Given the description of an element on the screen output the (x, y) to click on. 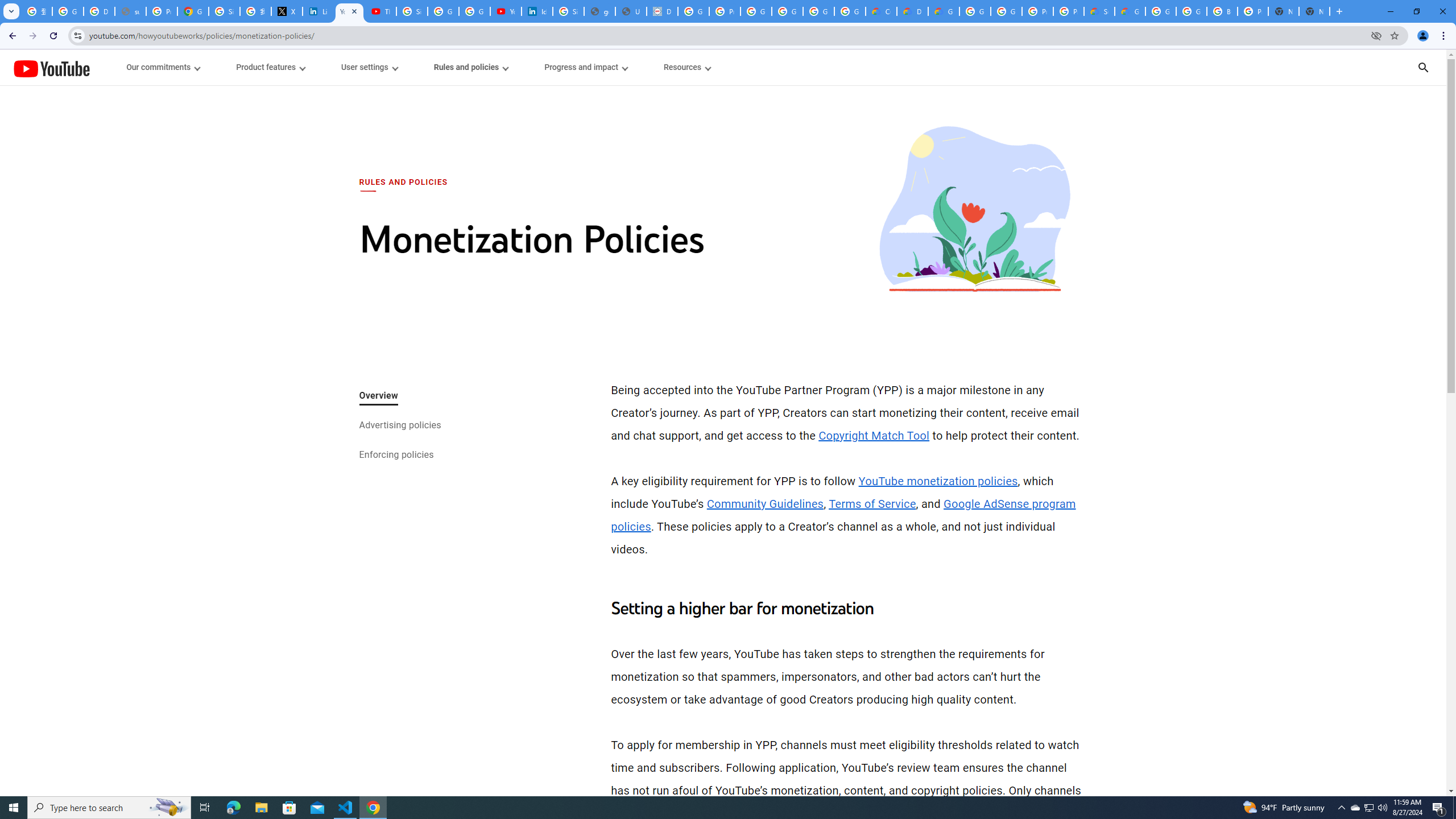
Google Cloud Platform (1190, 11)
support.google.com - Network error (130, 11)
